Given the description of an element on the screen output the (x, y) to click on. 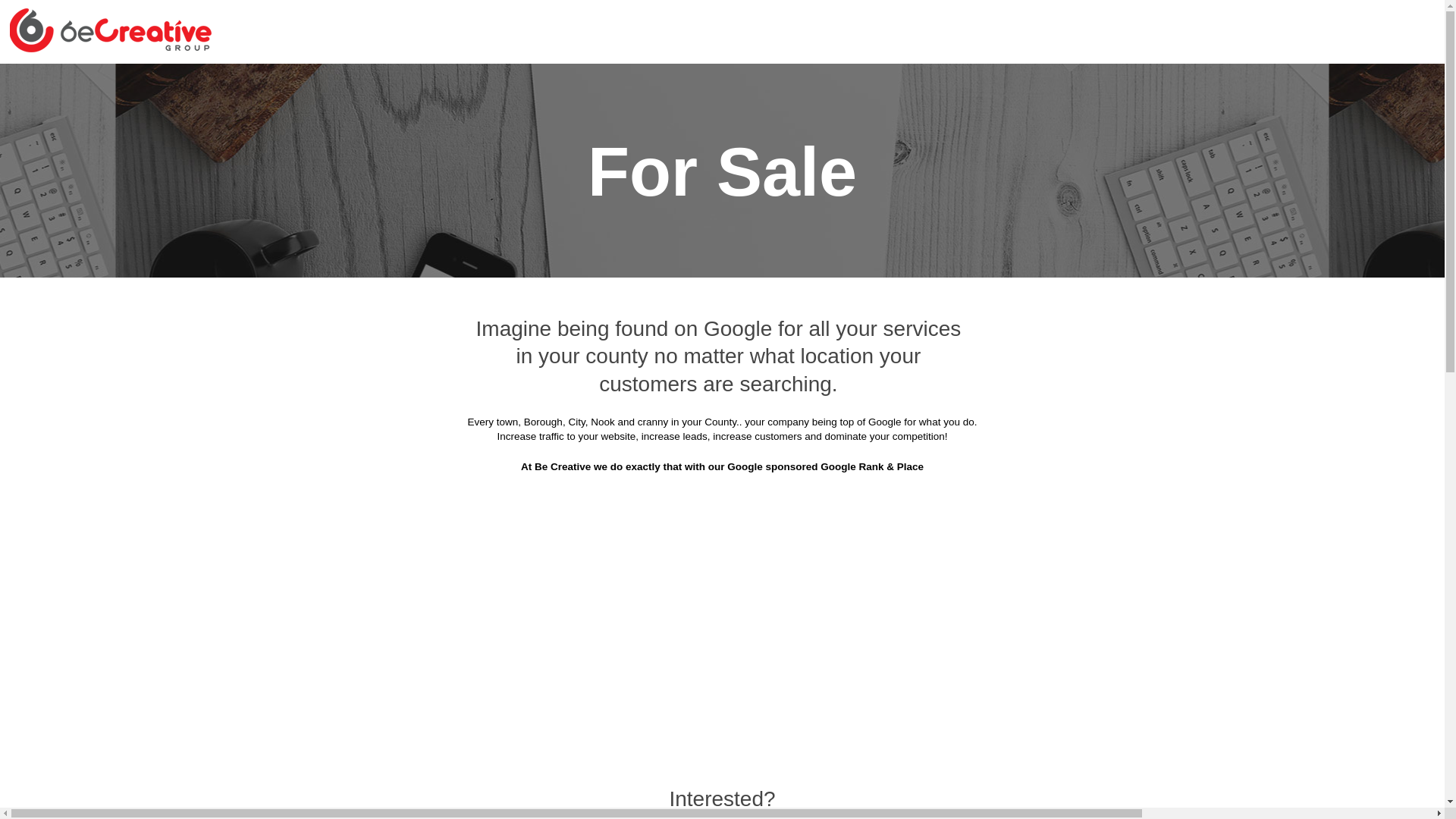
Aggregate Suppliers Devon (660, 83)
Aggregate Suppliers Honiton Devon (405, 383)
Aggregate Suppliers Launceston Cornwall (632, 422)
Aggregate Suppliers Camborne Cornwall (1072, 196)
Aggregate Suppliers Bodmin Cornwall (837, 121)
Aggregate Suppliers Falmouth Cornwall (600, 309)
Aggregate Suppliers Helston Cornwall (850, 346)
Aggregate Suppliers Bude Cornwall (1086, 158)
Aggregate Suppliers Dartmouth Devon (443, 271)
Aggregate Suppliers Ilfracombe Devon (625, 383)
Aggregate Suppliers Ivybridge Devon (848, 383)
Aggregate Suppliers Dawlish Devon (663, 271)
Aggregate Suppliers Bideford Devon (617, 121)
Aggregate Suppliers Chulmleigh Devon (850, 234)
Aggregate Suppliers Bovey Tracey Devon (1070, 121)
